Given the description of an element on the screen output the (x, y) to click on. 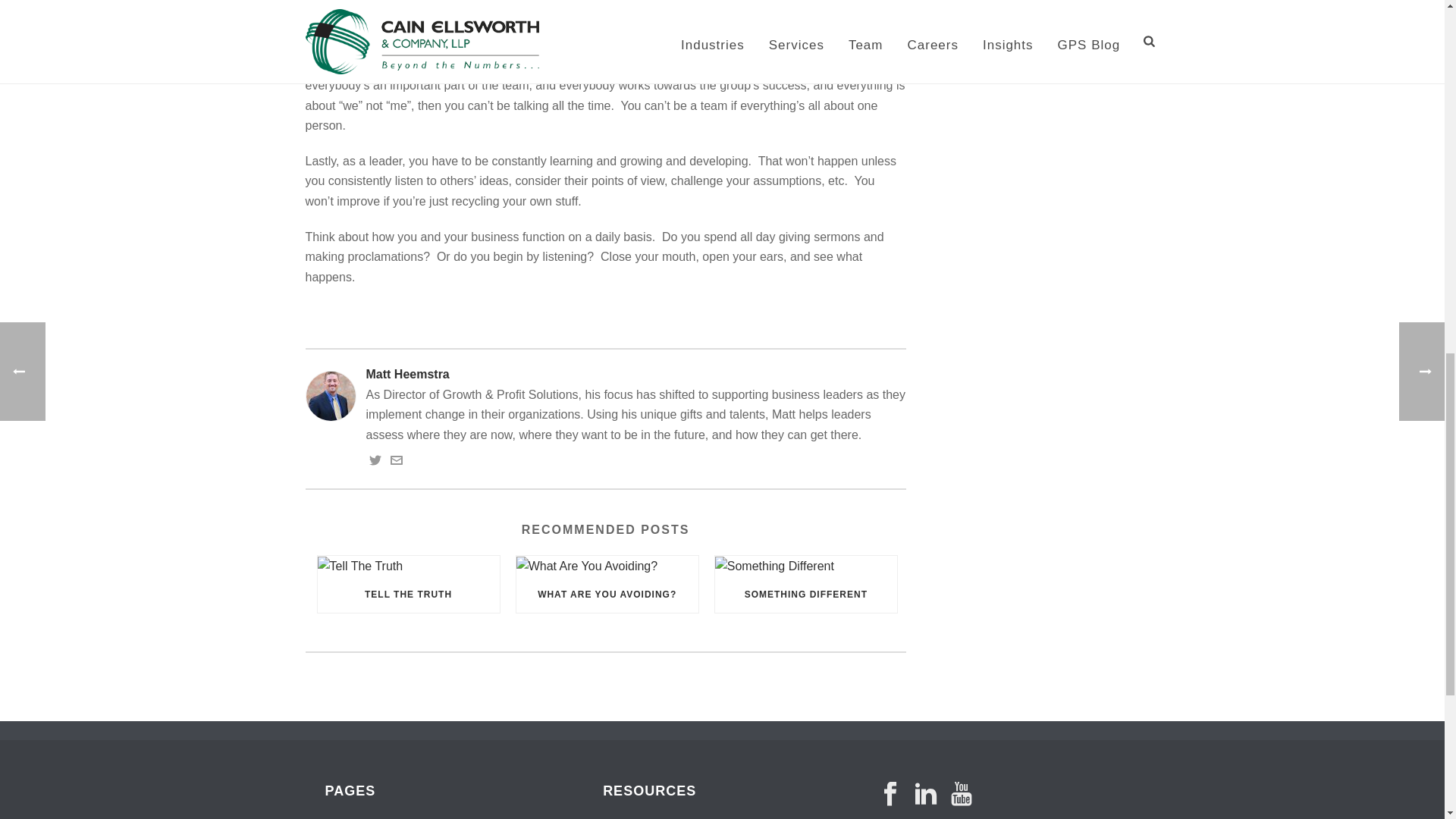
Get in touch with me via email (396, 461)
Tell The Truth (408, 566)
Follow me on Twitter (374, 461)
Something Different (805, 566)
What Are You Avoiding? (607, 566)
